Given the description of an element on the screen output the (x, y) to click on. 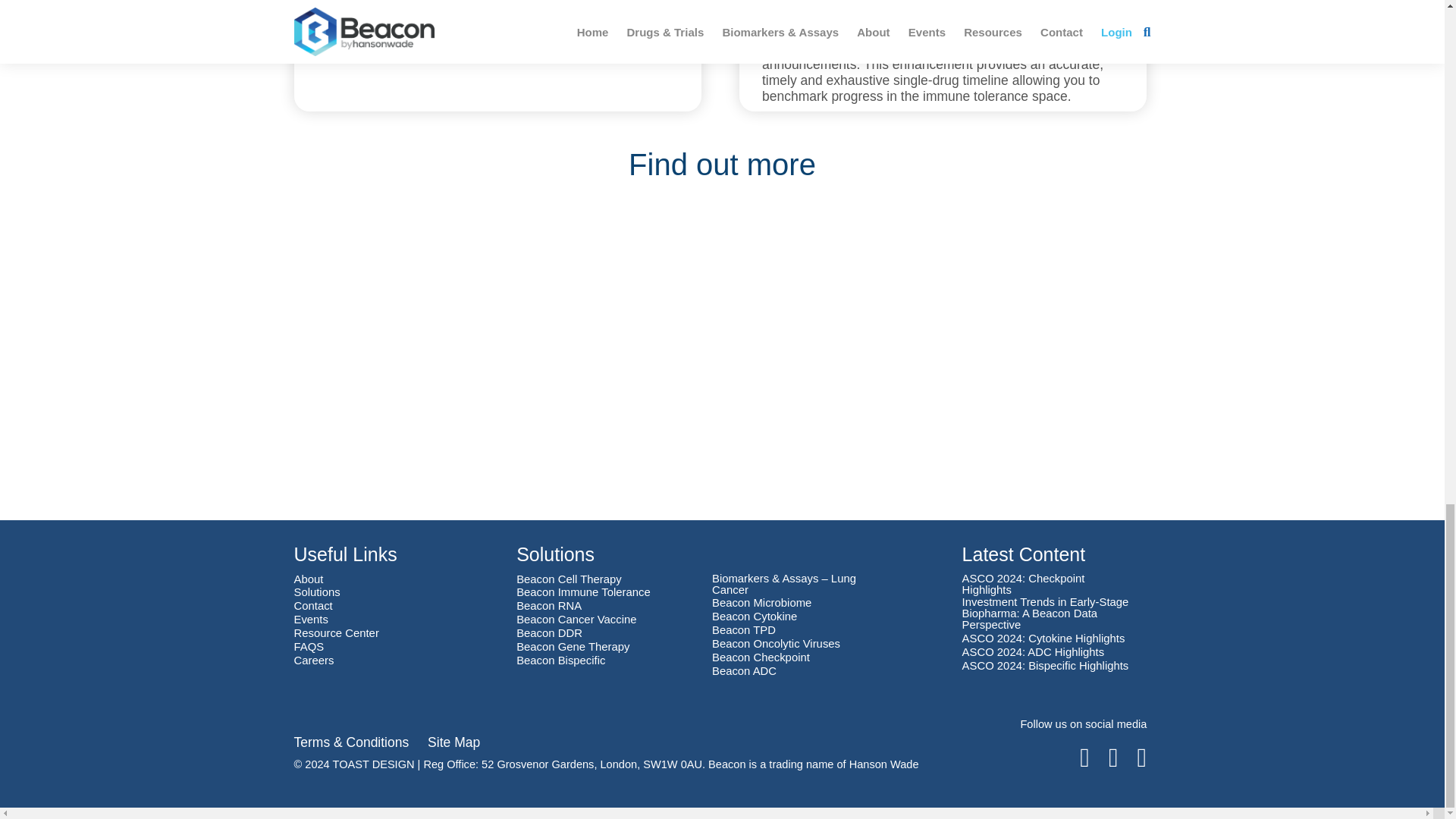
Beacon Cell Therapy (568, 579)
Events (311, 619)
FAQS (309, 646)
Contact (313, 605)
About (308, 579)
Solutions (317, 592)
Beacon Cancer Vaccine (576, 619)
Beacon RNA (548, 605)
Beacon DDR (549, 633)
Resource Center (336, 633)
Beacon Immune Tolerance (583, 592)
Beacon Gene Therapy (572, 646)
Careers (314, 660)
